Given the description of an element on the screen output the (x, y) to click on. 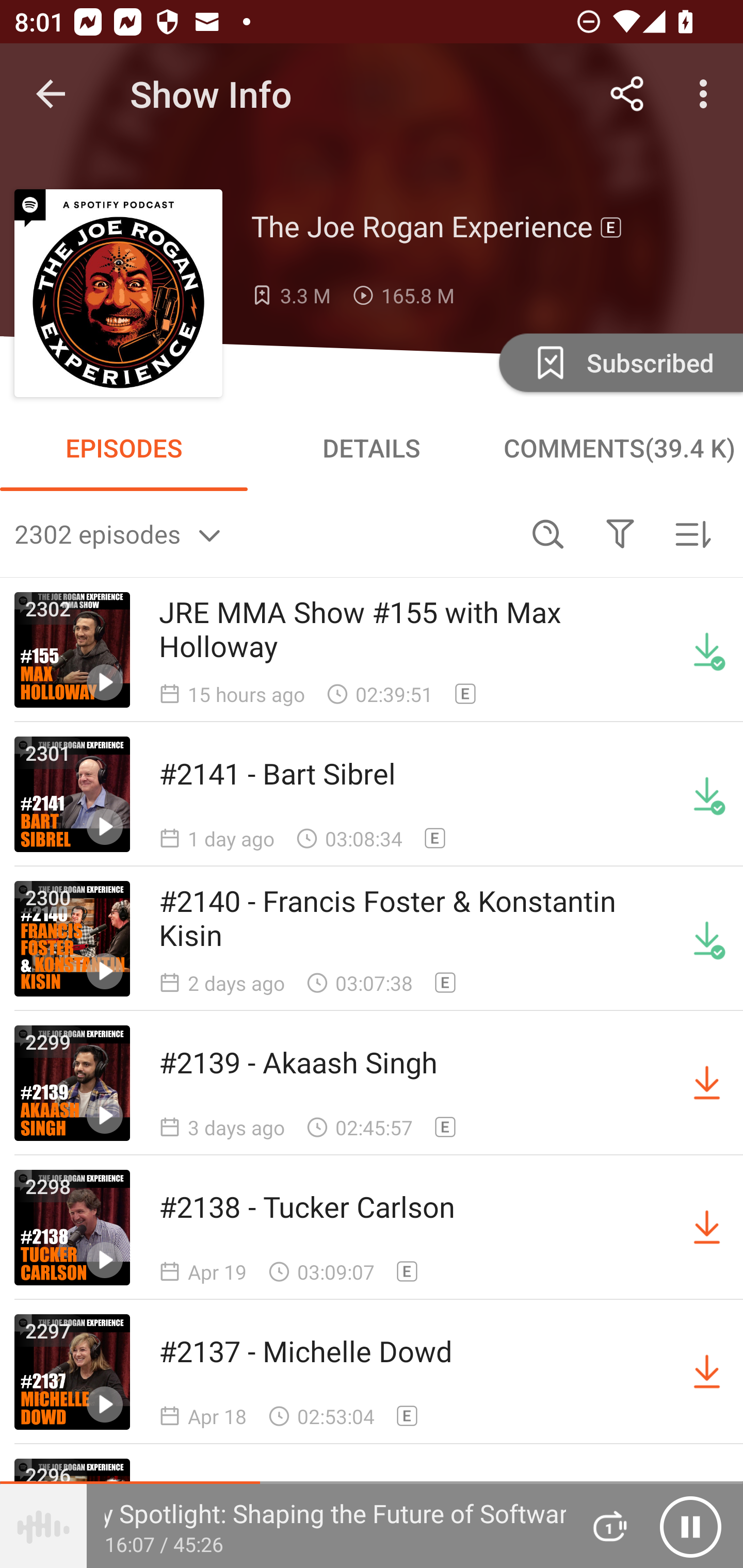
Navigate up (50, 93)
Share (626, 93)
More options (706, 93)
Unsubscribe Subscribed (619, 361)
EPISODES (123, 447)
DETAILS (371, 447)
COMMENTS(39.4 K) (619, 447)
2302 episodes  (262, 533)
 Search (547, 533)
 (619, 533)
 Sorted by newest first (692, 533)
Downloaded (706, 649)
Downloaded (706, 793)
